Given the description of an element on the screen output the (x, y) to click on. 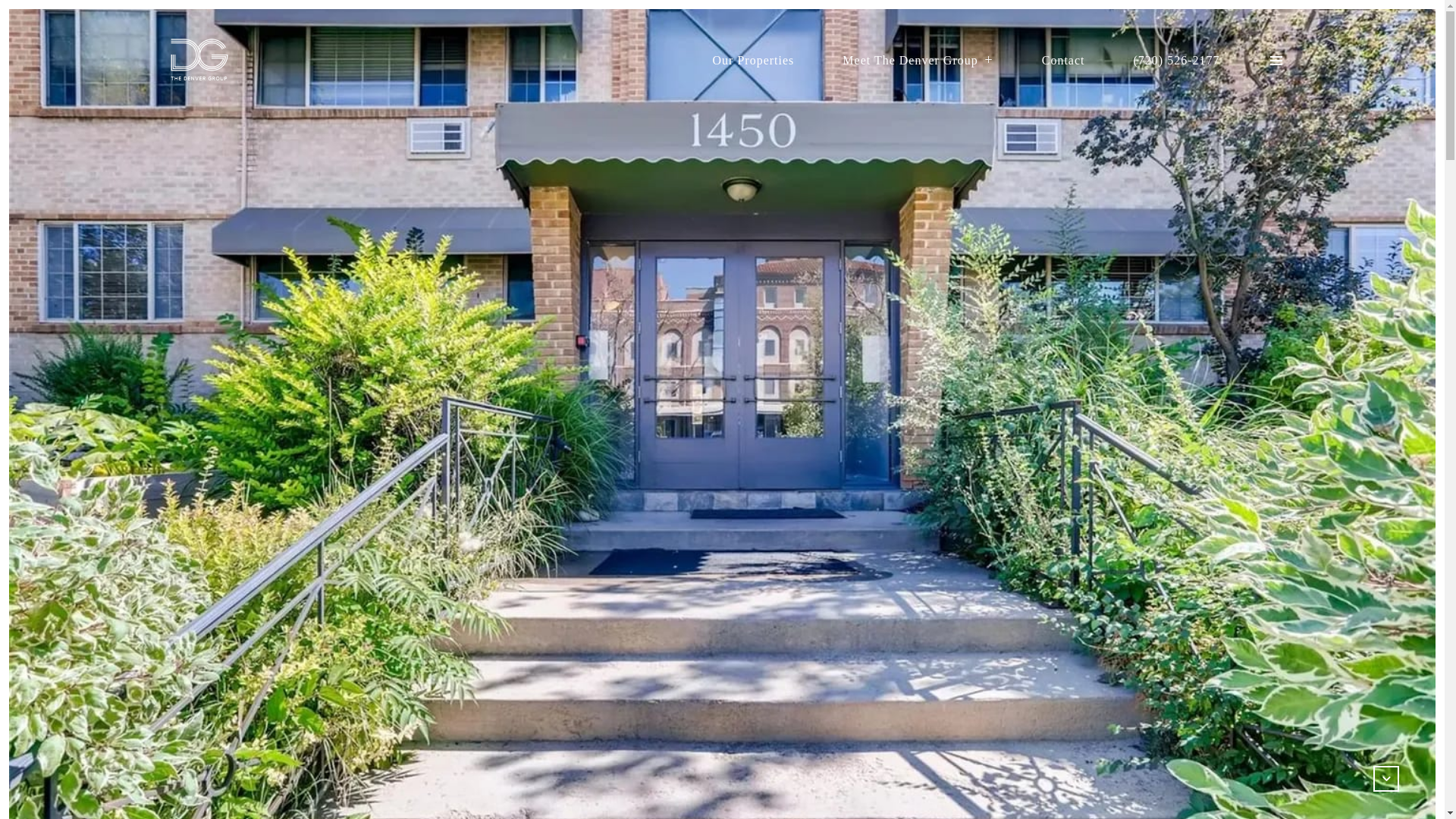
Meet The Denver Group (917, 60)
Contact (1063, 60)
Our Properties (753, 60)
